Given the description of an element on the screen output the (x, y) to click on. 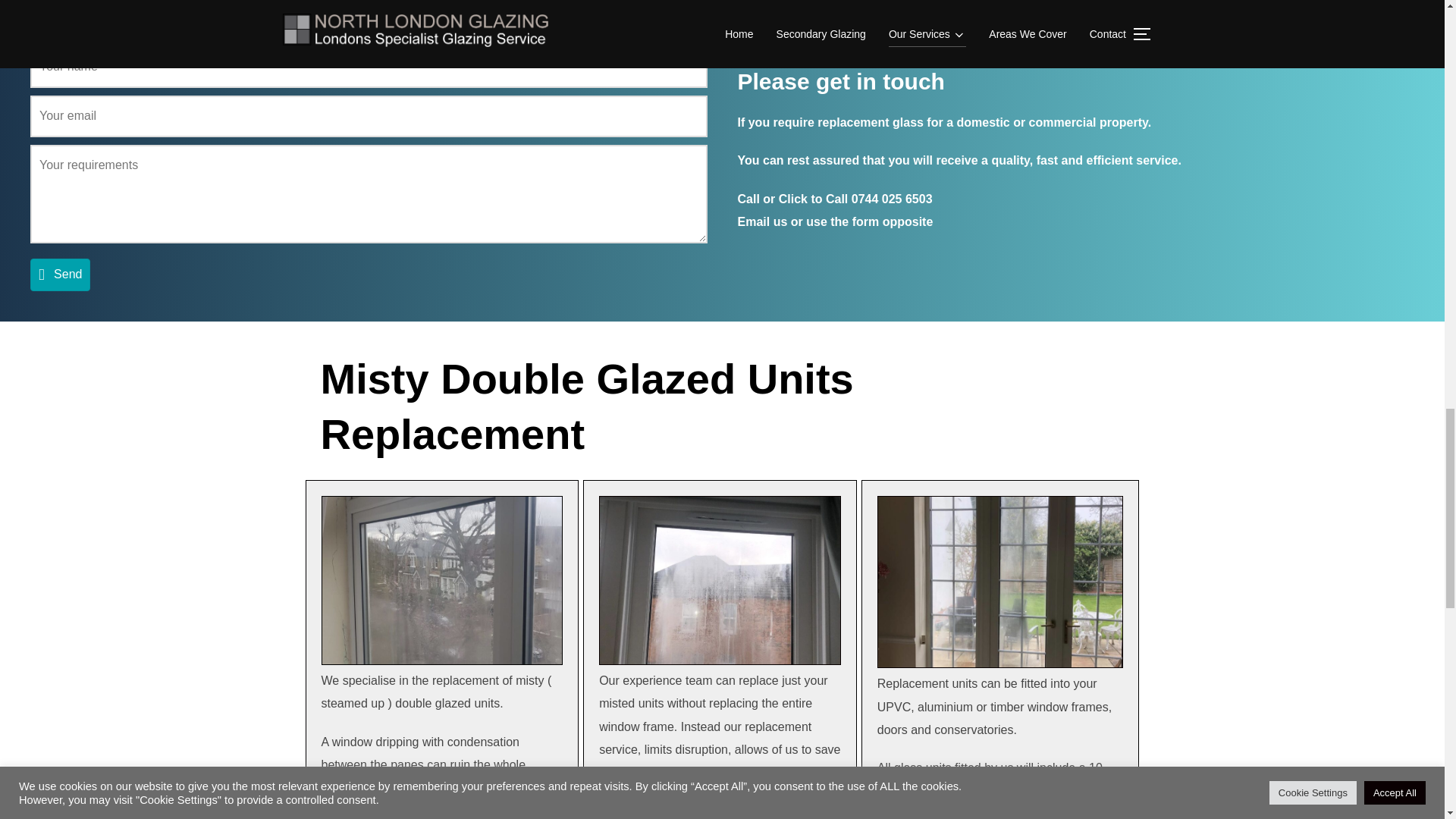
Replacement of misty units (442, 580)
Replacement of misty units (719, 580)
Replacement of misty units (1000, 582)
Email us (761, 221)
Call or Click to Call 0744 025 6503 (833, 198)
Send (60, 274)
